Given the description of an element on the screen output the (x, y) to click on. 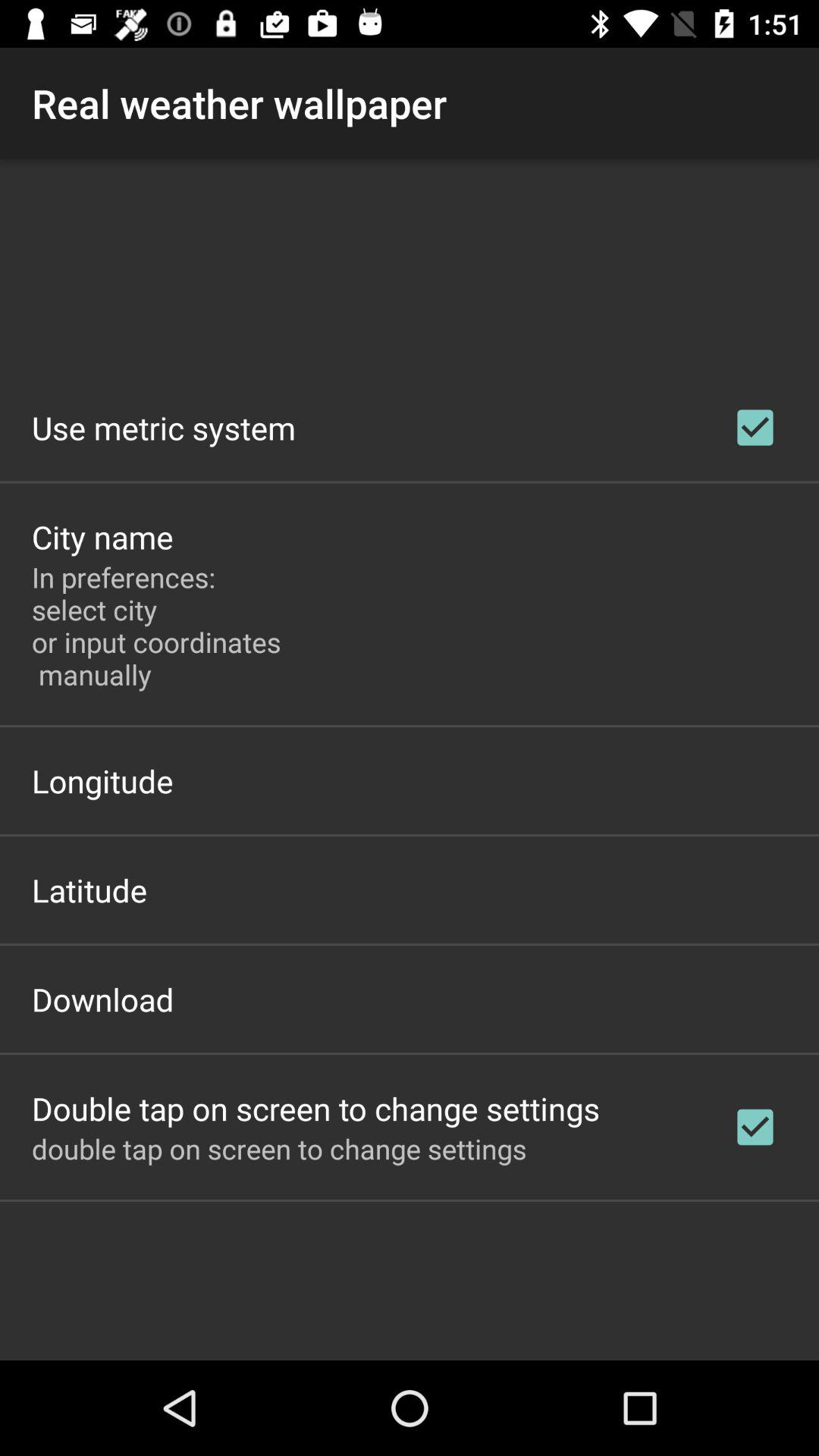
flip until the latitude app (89, 889)
